Given the description of an element on the screen output the (x, y) to click on. 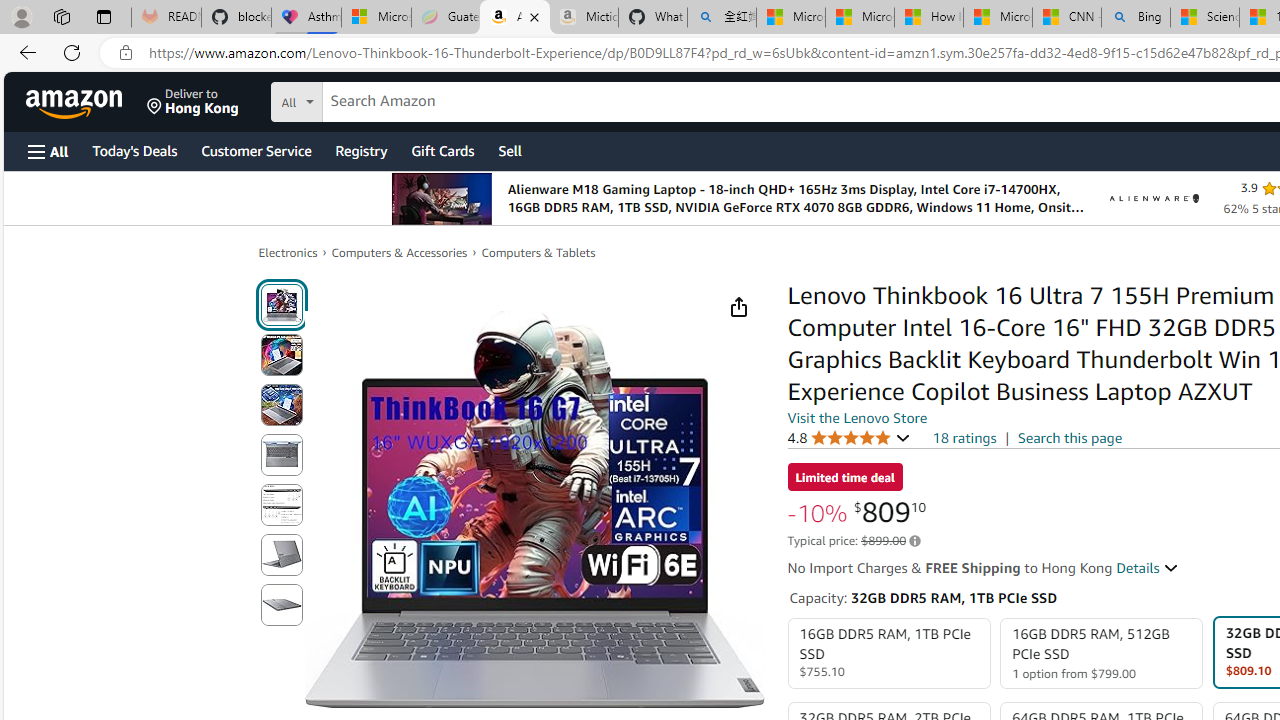
Logo (1153, 198)
Gift Cards (442, 150)
Open Menu (48, 151)
Search in (371, 99)
Skip to main content (86, 100)
Today's Deals (134, 150)
Visit the Lenovo Store (857, 417)
Share (738, 307)
4.8 4.8 out of 5 stars (849, 437)
Amazon (76, 101)
Electronics (287, 252)
